Given the description of an element on the screen output the (x, y) to click on. 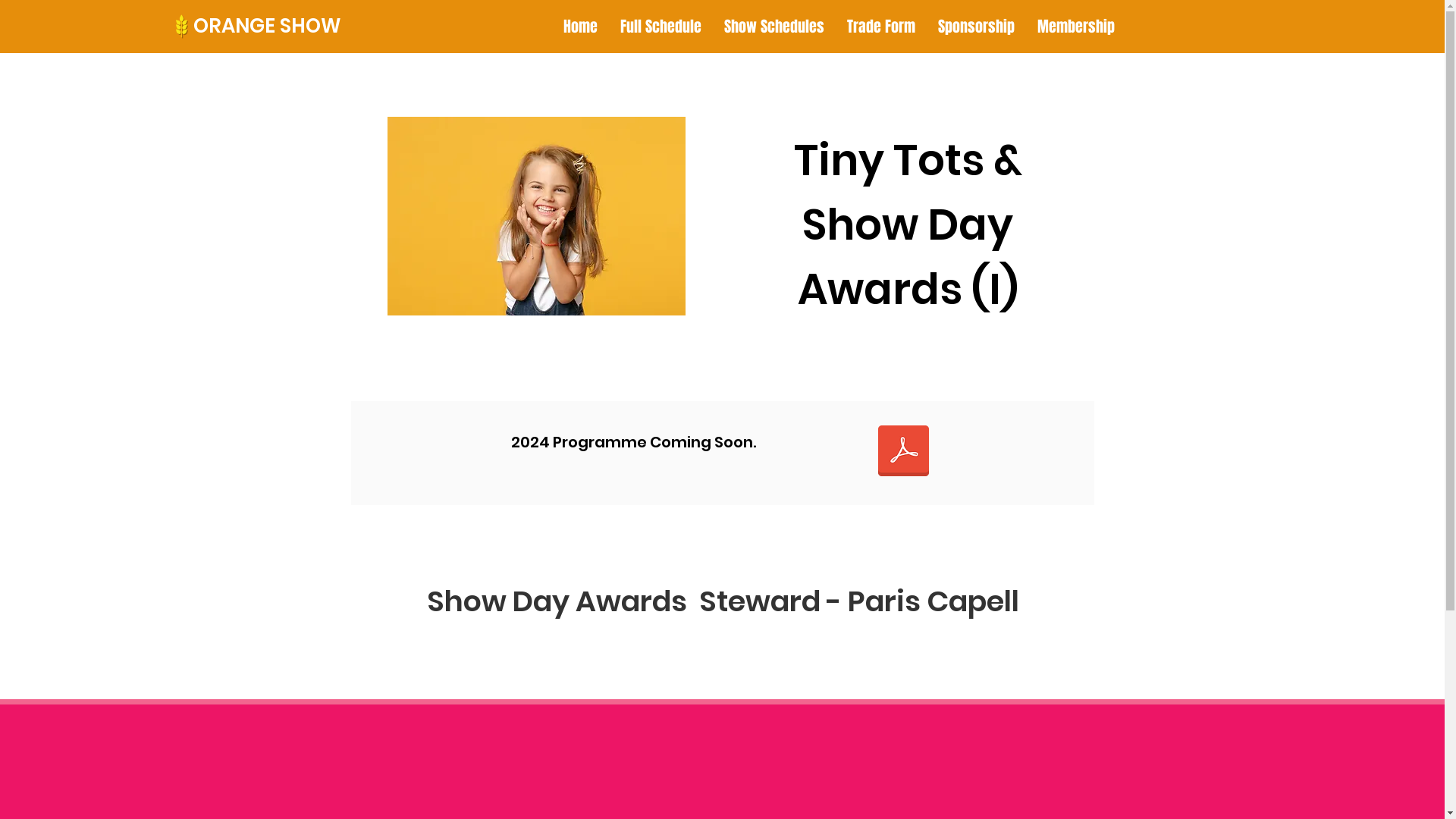
Membership Element type: text (1076, 26)
Show Schedules Element type: text (773, 26)
Home Element type: text (580, 26)
Full Schedule Element type: text (660, 26)
Trade Form Element type: text (880, 26)
Sponsorship Element type: text (976, 26)
2023 Section I - Tiny Tots - Full.pdf Element type: hover (902, 452)
ORANGE SHOW Element type: text (267, 26)
